Given the description of an element on the screen output the (x, y) to click on. 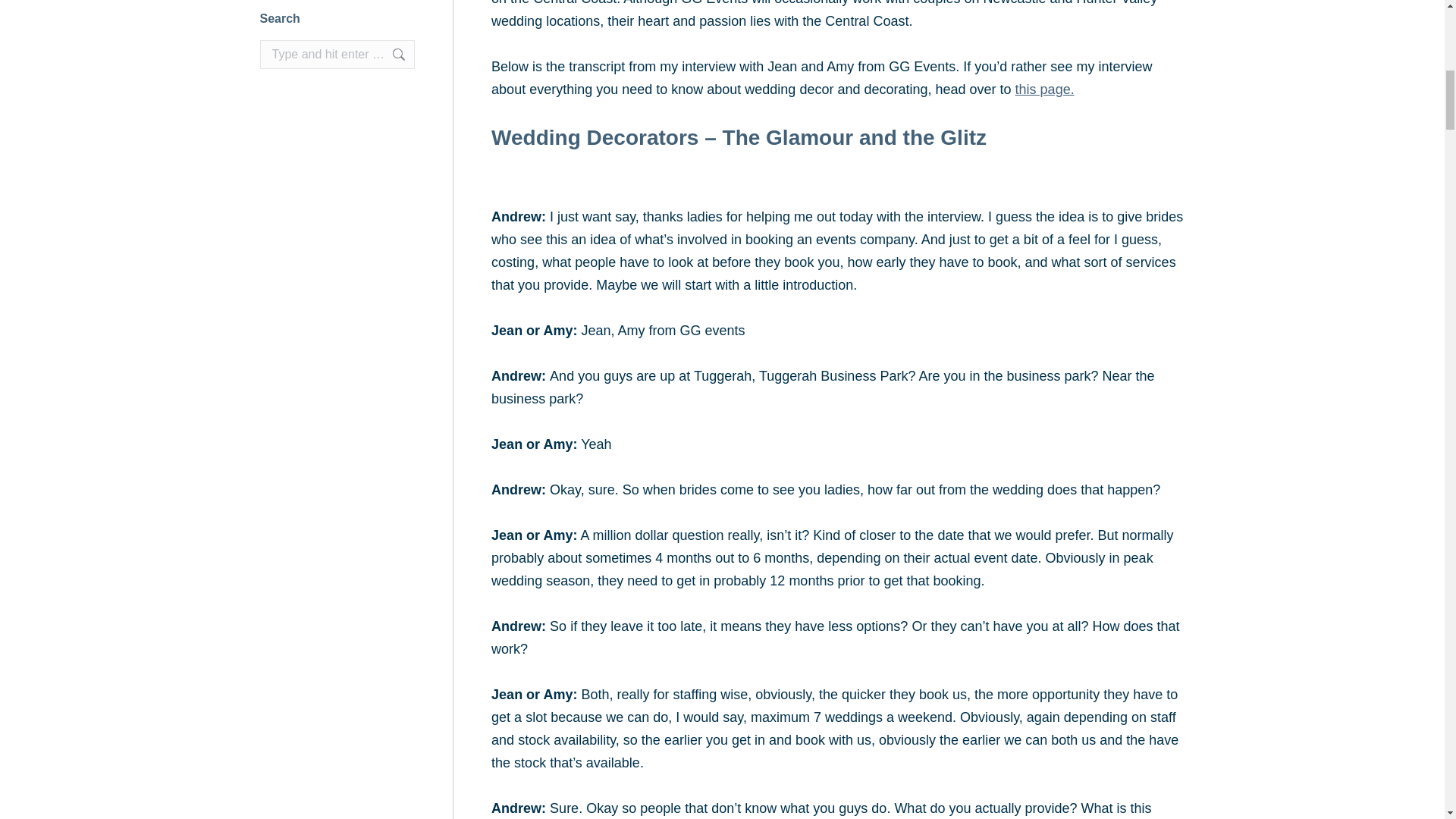
Go! (390, 54)
this page. (1044, 89)
Go! (390, 54)
